Given the description of an element on the screen output the (x, y) to click on. 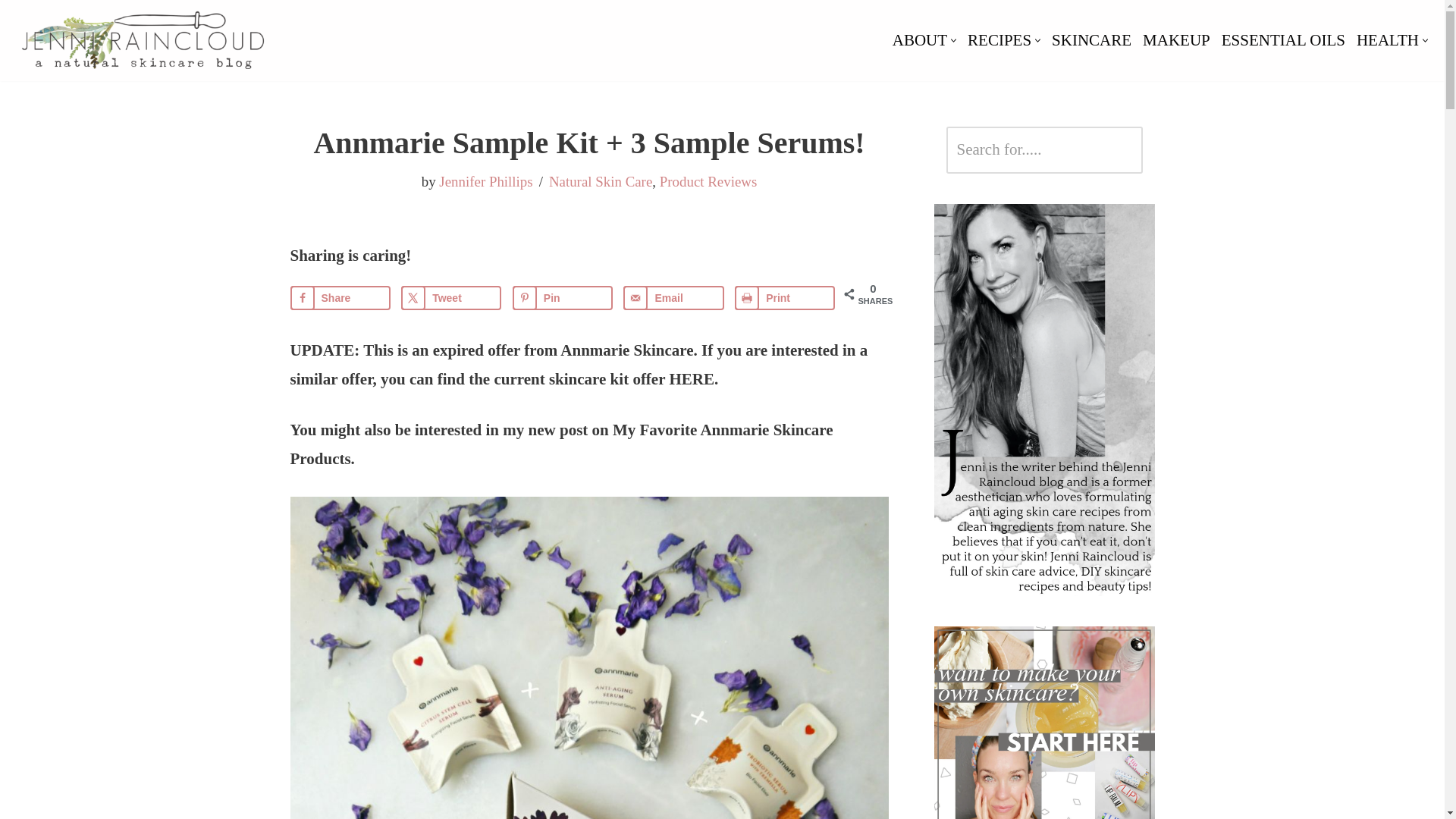
Share on Facebook (339, 297)
Posts by Jennifer Phillips (485, 181)
MAKEUP (1175, 40)
Skip to content (11, 31)
Save to Pinterest (562, 297)
Send over email (673, 297)
RECIPES (999, 40)
Share on X (450, 297)
Print this webpage (784, 297)
HEALTH (1387, 40)
SKINCARE (1091, 40)
ABOUT (919, 40)
ESSENTIAL OILS (1283, 40)
